Given the description of an element on the screen output the (x, y) to click on. 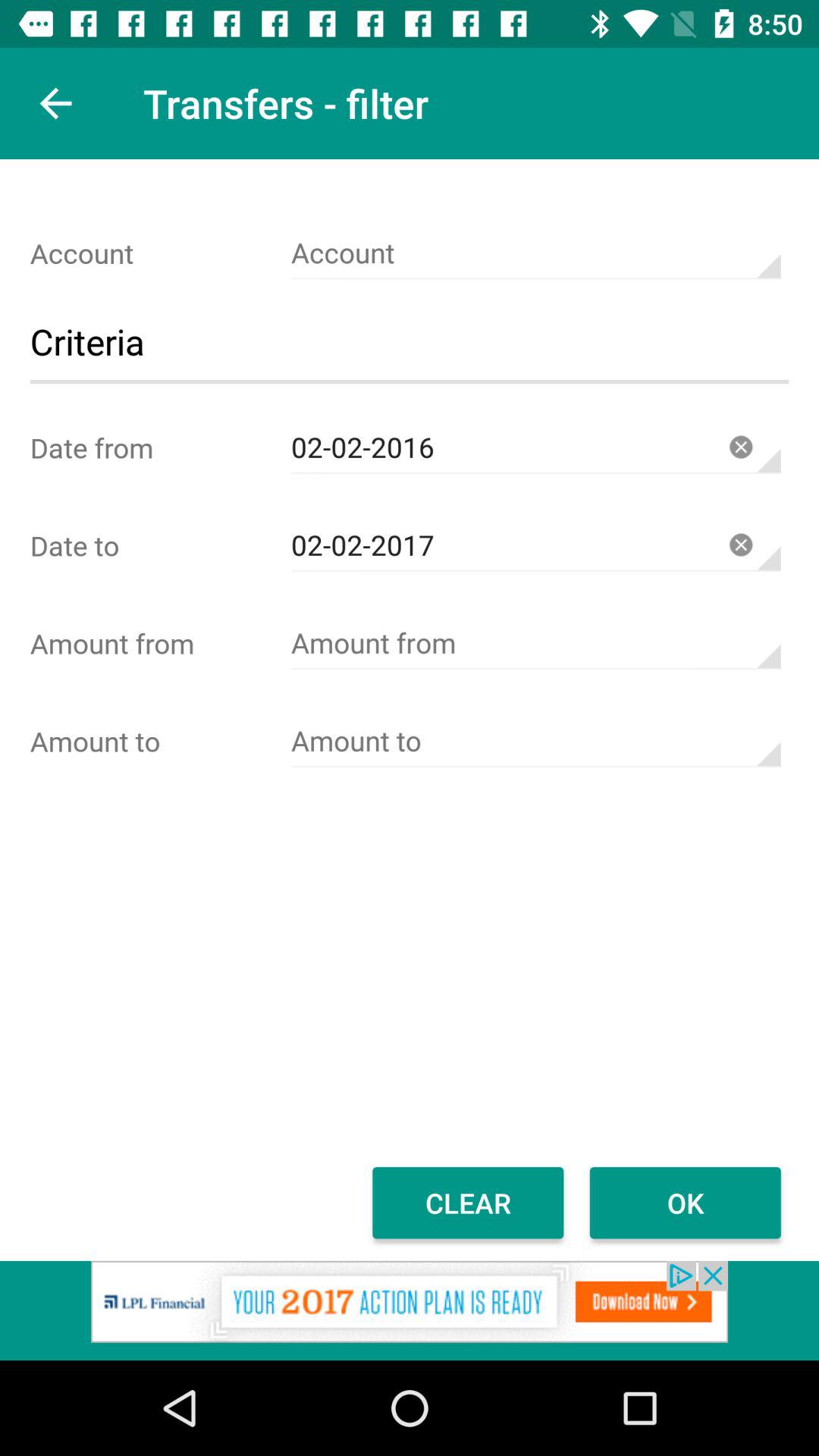
select account (535, 643)
